Given the description of an element on the screen output the (x, y) to click on. 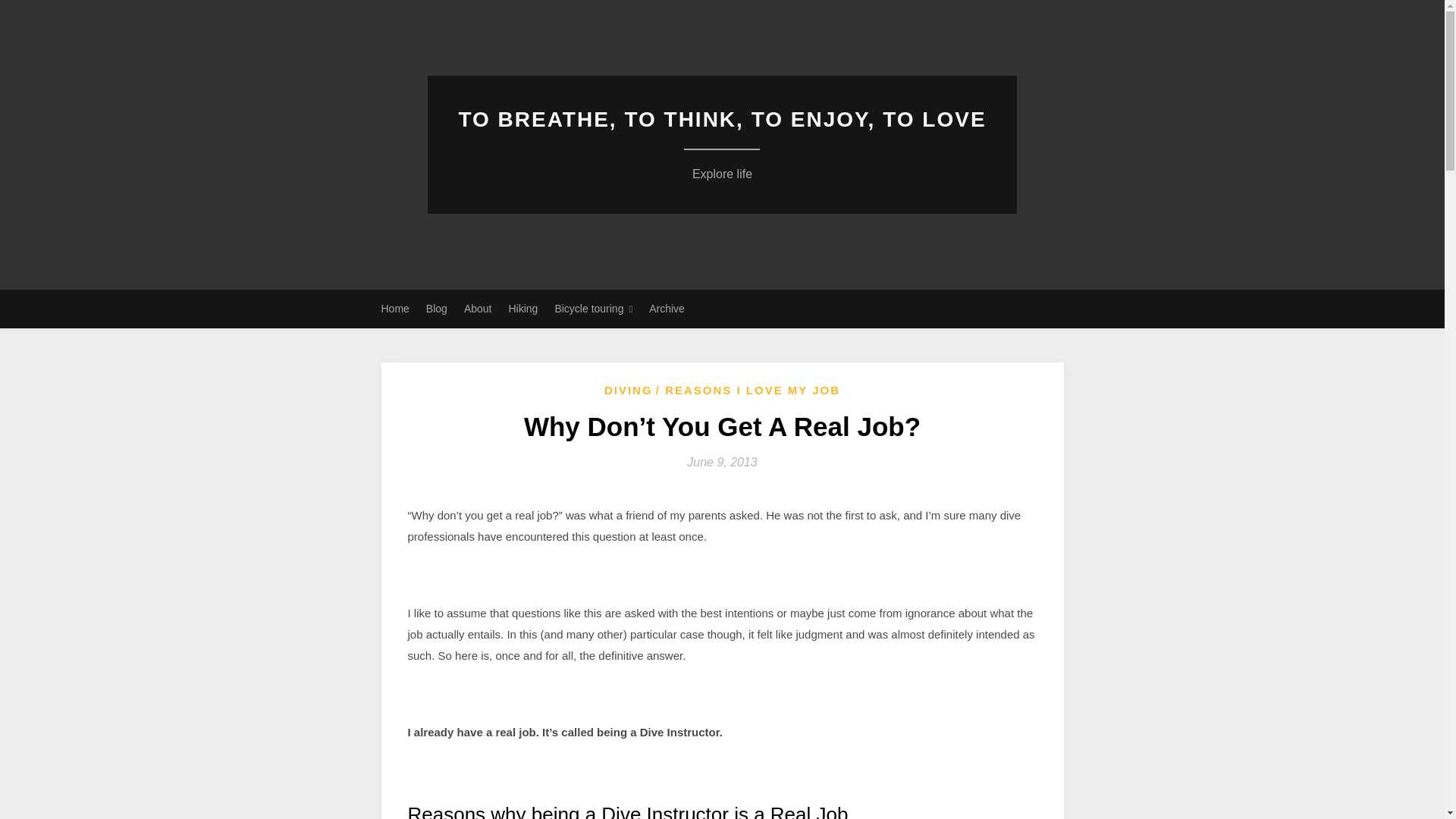
Bicycle touring (592, 308)
DIVING (722, 173)
Search (628, 390)
Archive (31, 12)
REASONS I LOVE MY JOB (666, 308)
June 9, 2013 (748, 390)
